Given the description of an element on the screen output the (x, y) to click on. 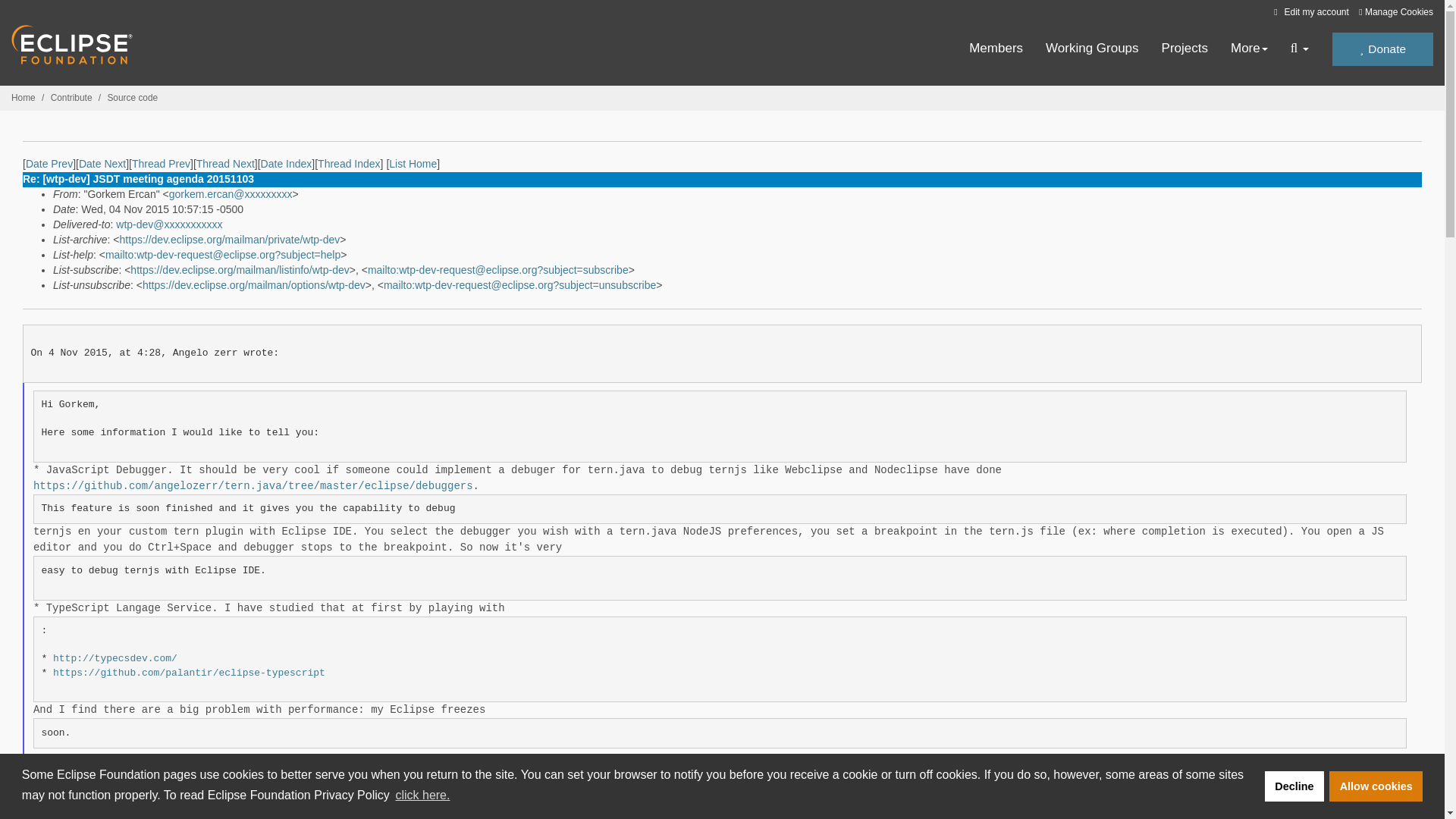
Working Groups (1091, 48)
click here. (422, 794)
Allow cookies (1375, 786)
Decline (1294, 786)
Members (996, 48)
Donate (1382, 49)
Projects (1184, 48)
Manage Cookies (1395, 12)
Edit my account (1309, 11)
More (1249, 48)
